Given the description of an element on the screen output the (x, y) to click on. 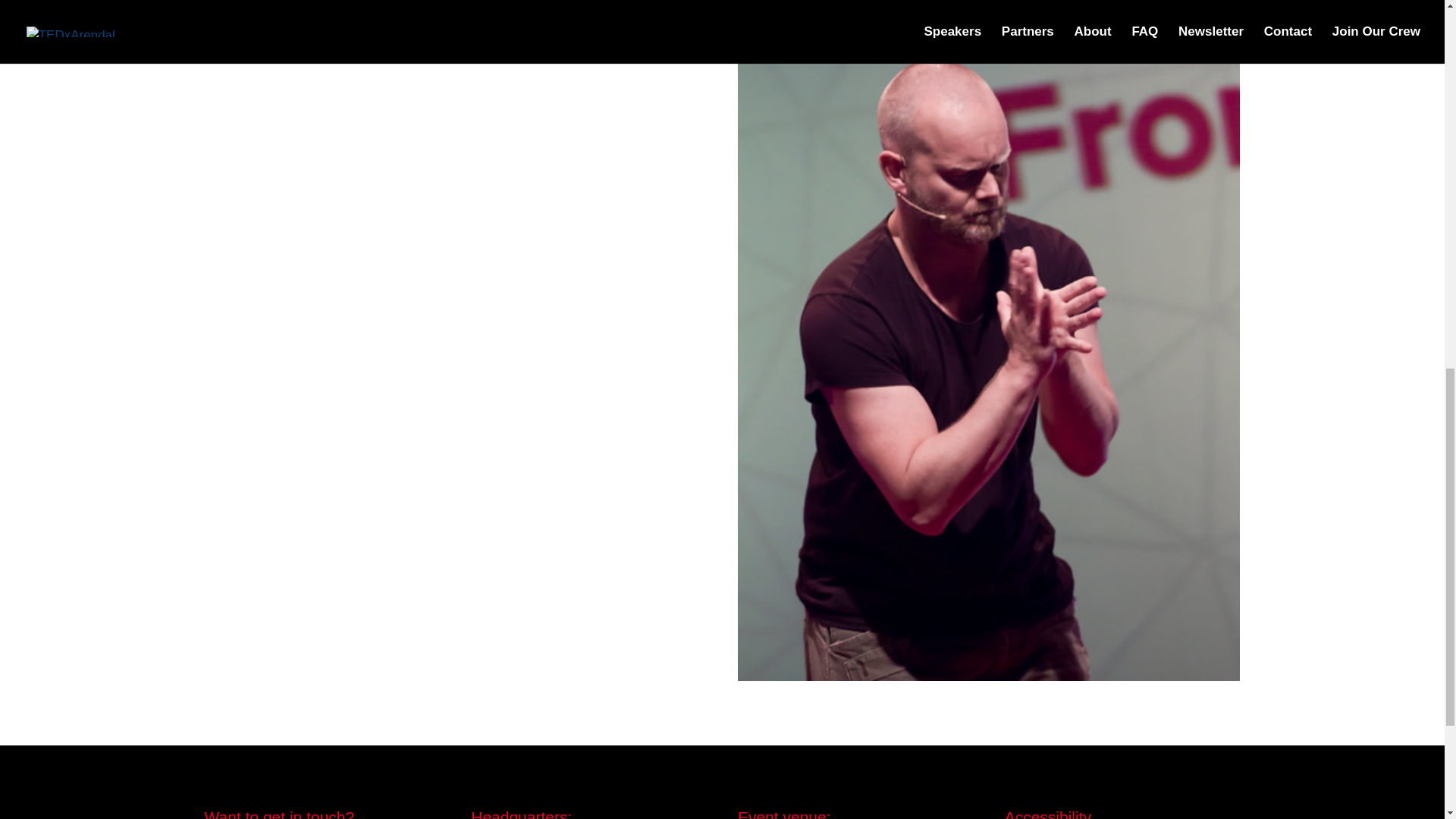
TEDxArendal 2016: Peter Stavrum Nielsen (989, 671)
